Given the description of an element on the screen output the (x, y) to click on. 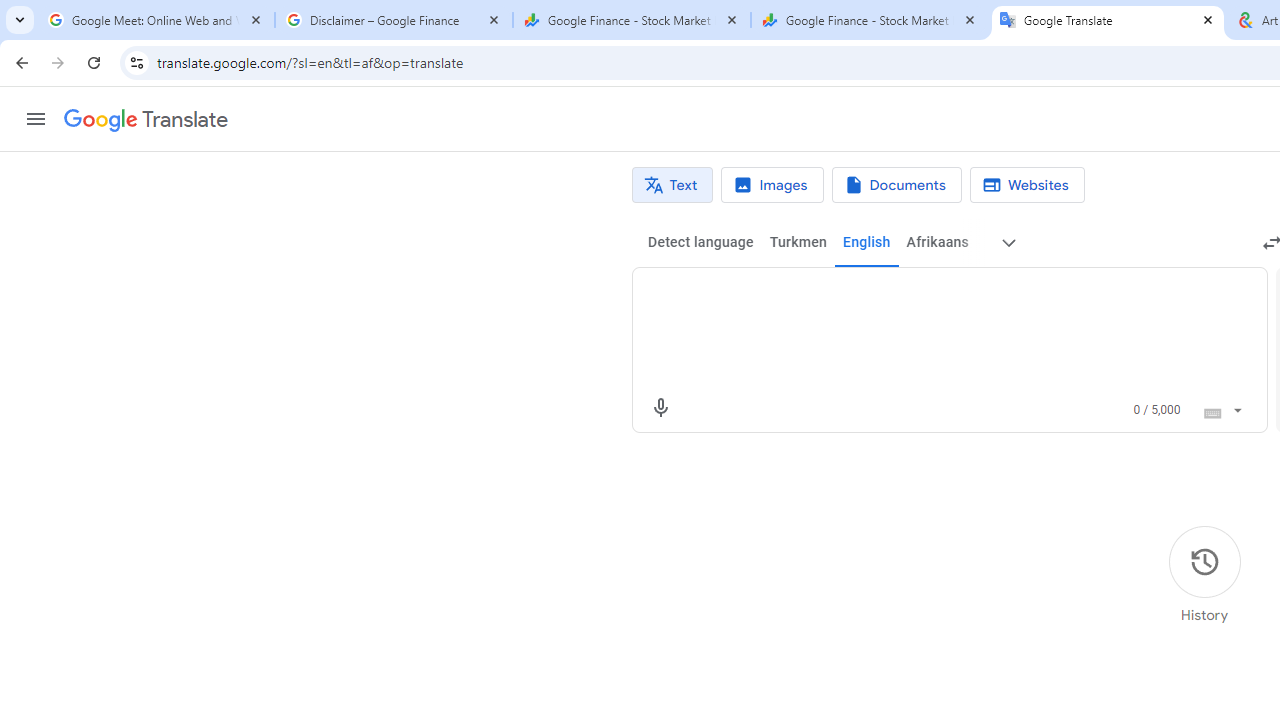
Website translation (1026, 185)
Turkmen (797, 242)
History (1204, 575)
More source languages (1008, 242)
Image translation (772, 185)
Google Translate (1108, 20)
Source text (930, 295)
